Given the description of an element on the screen output the (x, y) to click on. 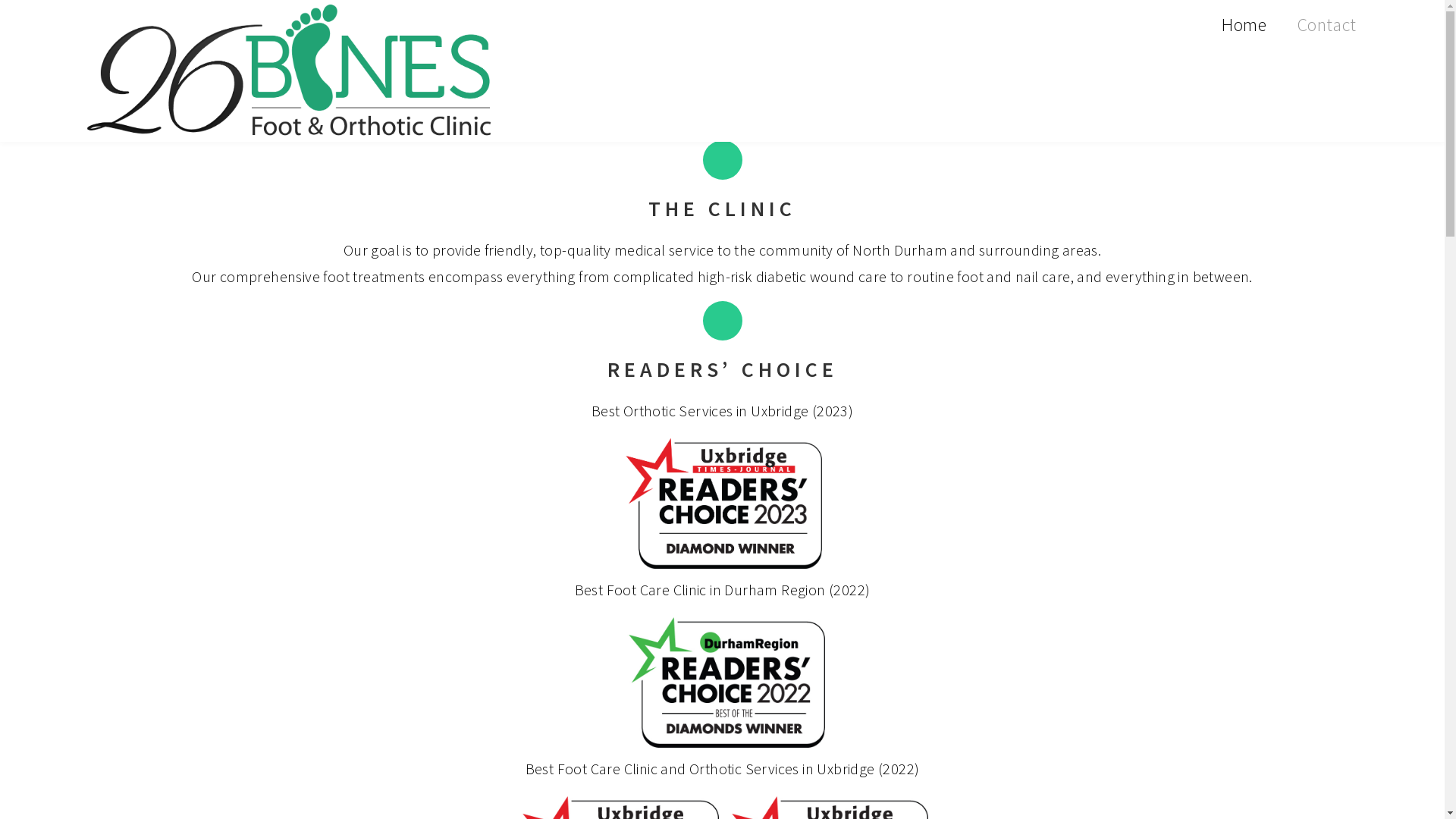
26 BONES LOGO Element type: hover (288, 70)
Home Element type: text (1243, 24)
Contact Element type: text (1326, 24)
